Given the description of an element on the screen output the (x, y) to click on. 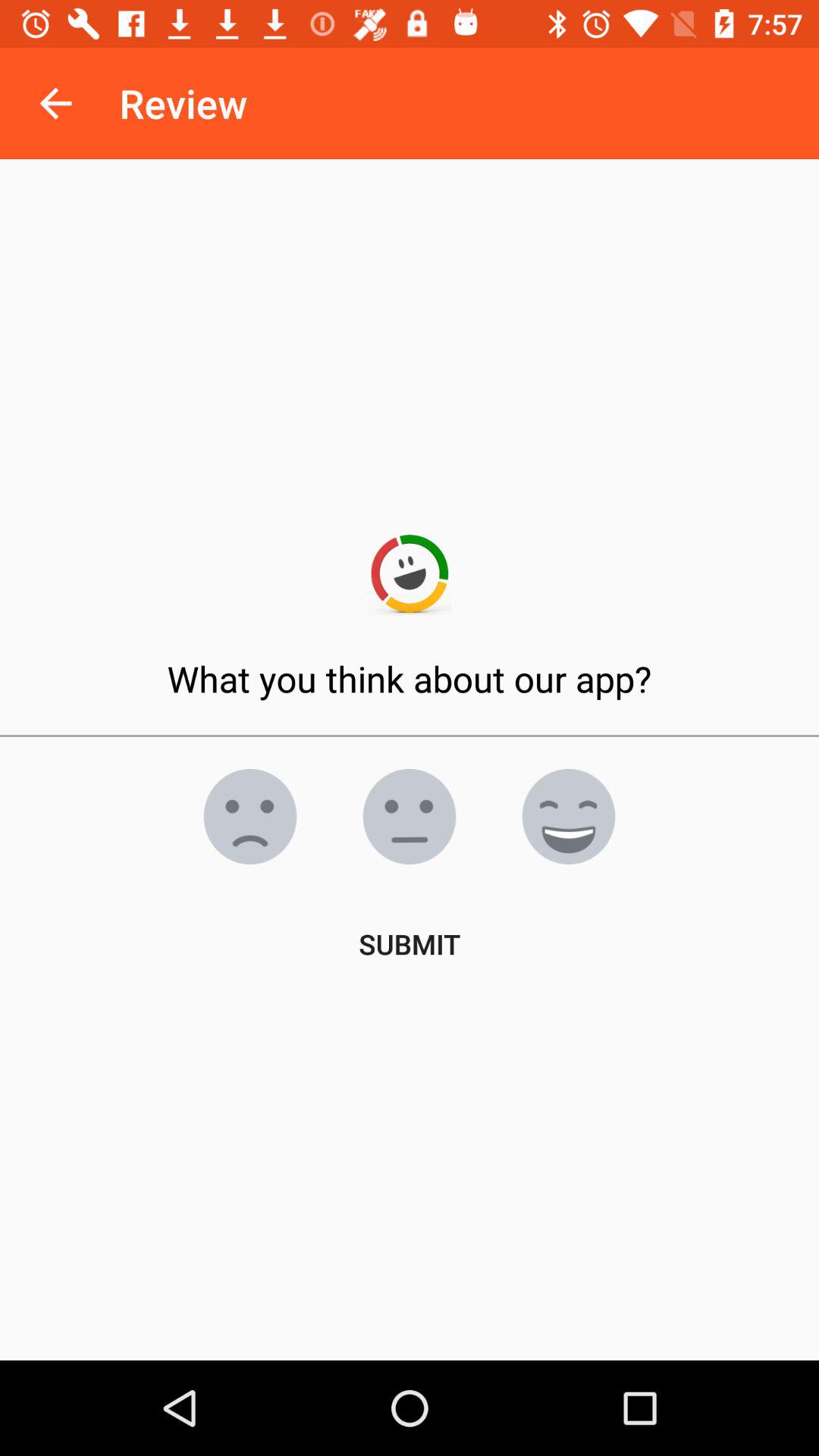
select happy emoji (568, 816)
